Given the description of an element on the screen output the (x, y) to click on. 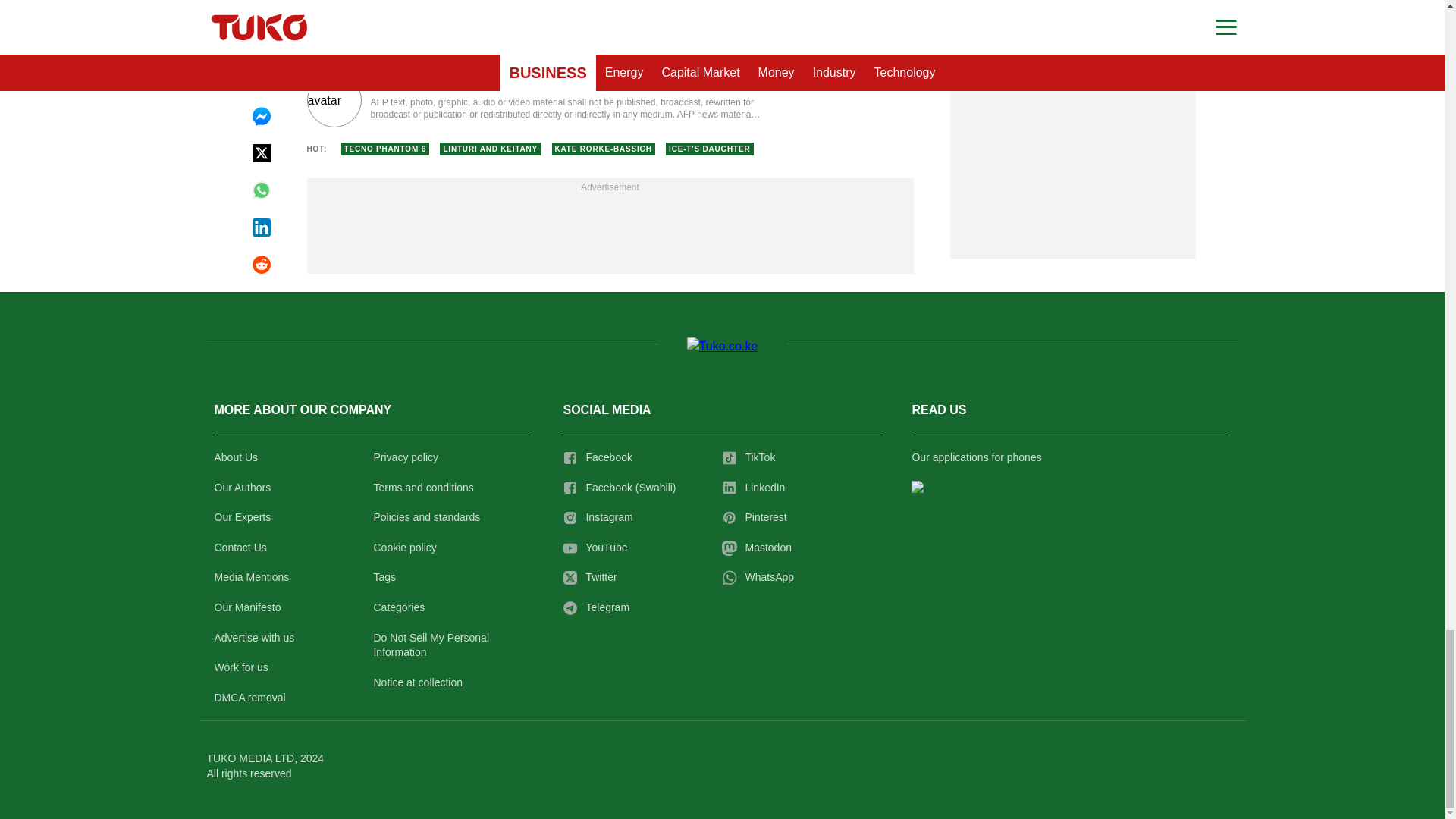
Author page (533, 99)
